Given the description of an element on the screen output the (x, y) to click on. 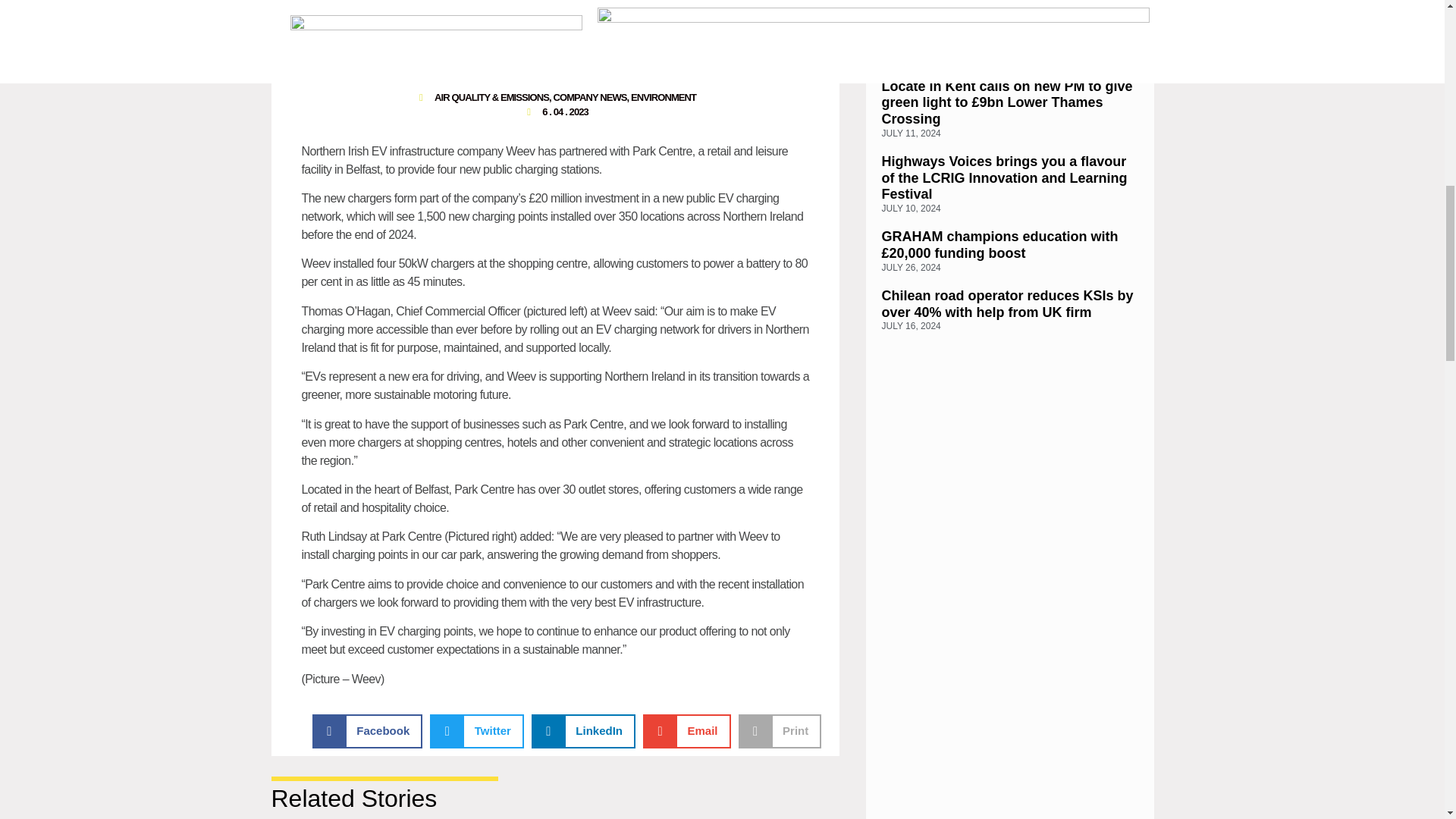
6 . 04 . 2023 (555, 111)
COMPANY NEWS (589, 97)
ENVIRONMENT (662, 97)
